Given the description of an element on the screen output the (x, y) to click on. 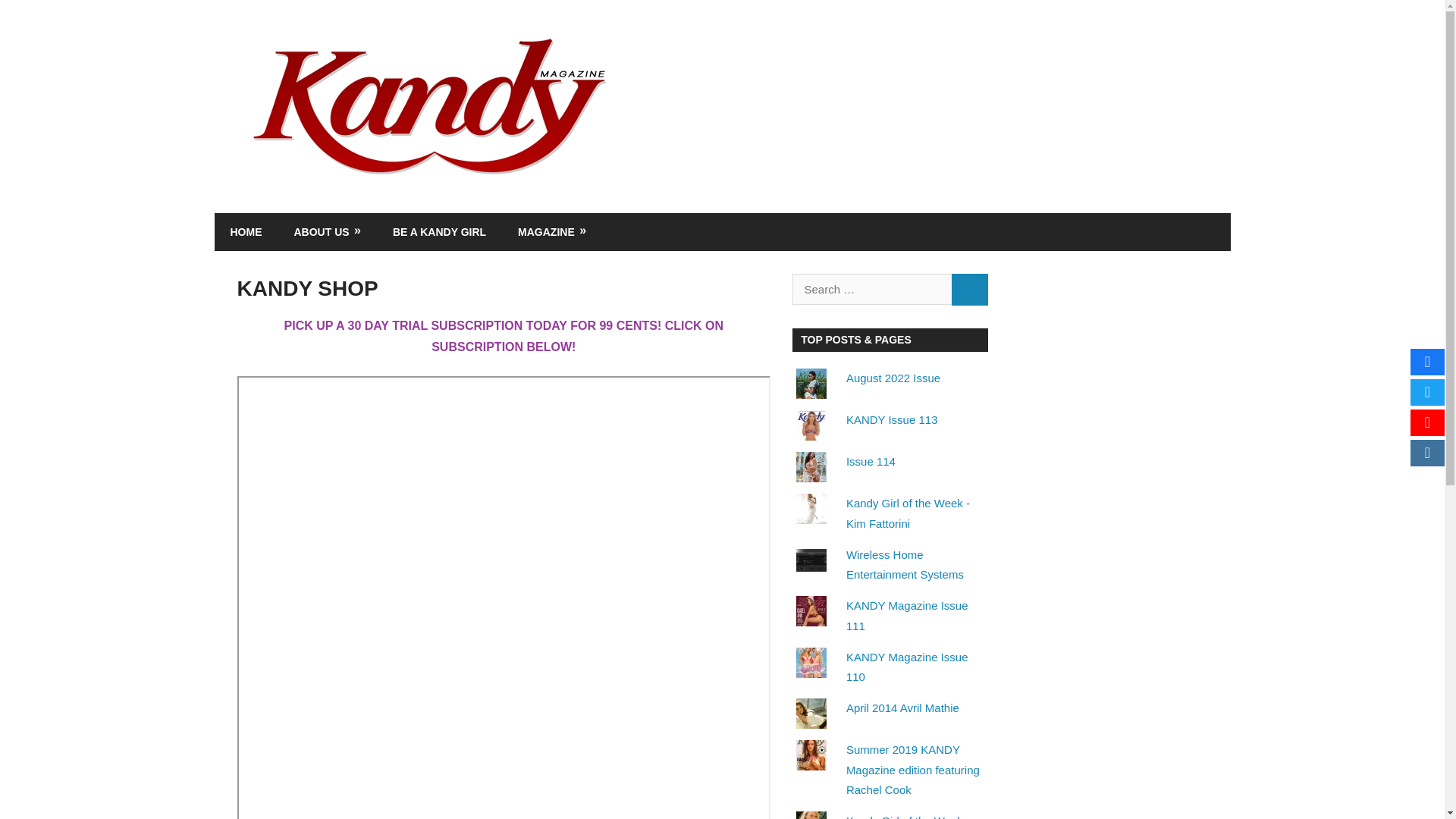
KANDY Magazine Issue 111 (906, 614)
SEARCH (969, 289)
BE A KANDY GIRL (439, 231)
KANDY Magazine Issue 110 (906, 666)
April 2014 Avril Mathie (902, 707)
Wireless Home Entertainment Systems (904, 563)
Summer 2019 KANDY Magazine edition featuring Rachel Cook (912, 769)
Issue 114 (870, 461)
KANDY Magazine Issue 110 (906, 666)
Kandy Girl of the Week - Kim Fattorini (907, 512)
KANDY Issue 113 (891, 419)
August 2022 Issue (892, 377)
MAGAZINE (552, 231)
KANDY Issue 113 (891, 419)
KANDY Magazine Issue 111 (906, 614)
